Given the description of an element on the screen output the (x, y) to click on. 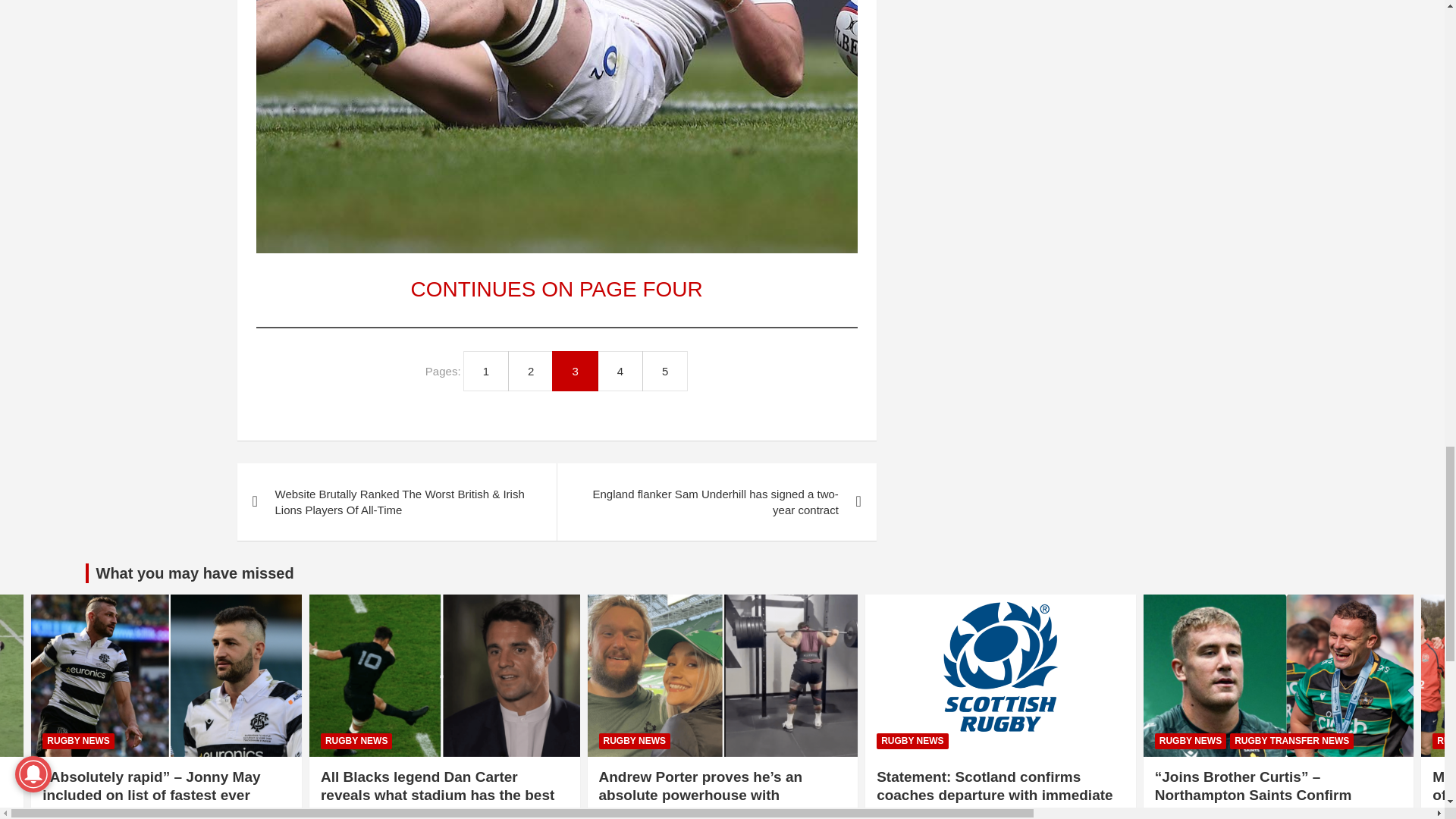
CONTINUES ON PAGE FOUR (556, 289)
